Given the description of an element on the screen output the (x, y) to click on. 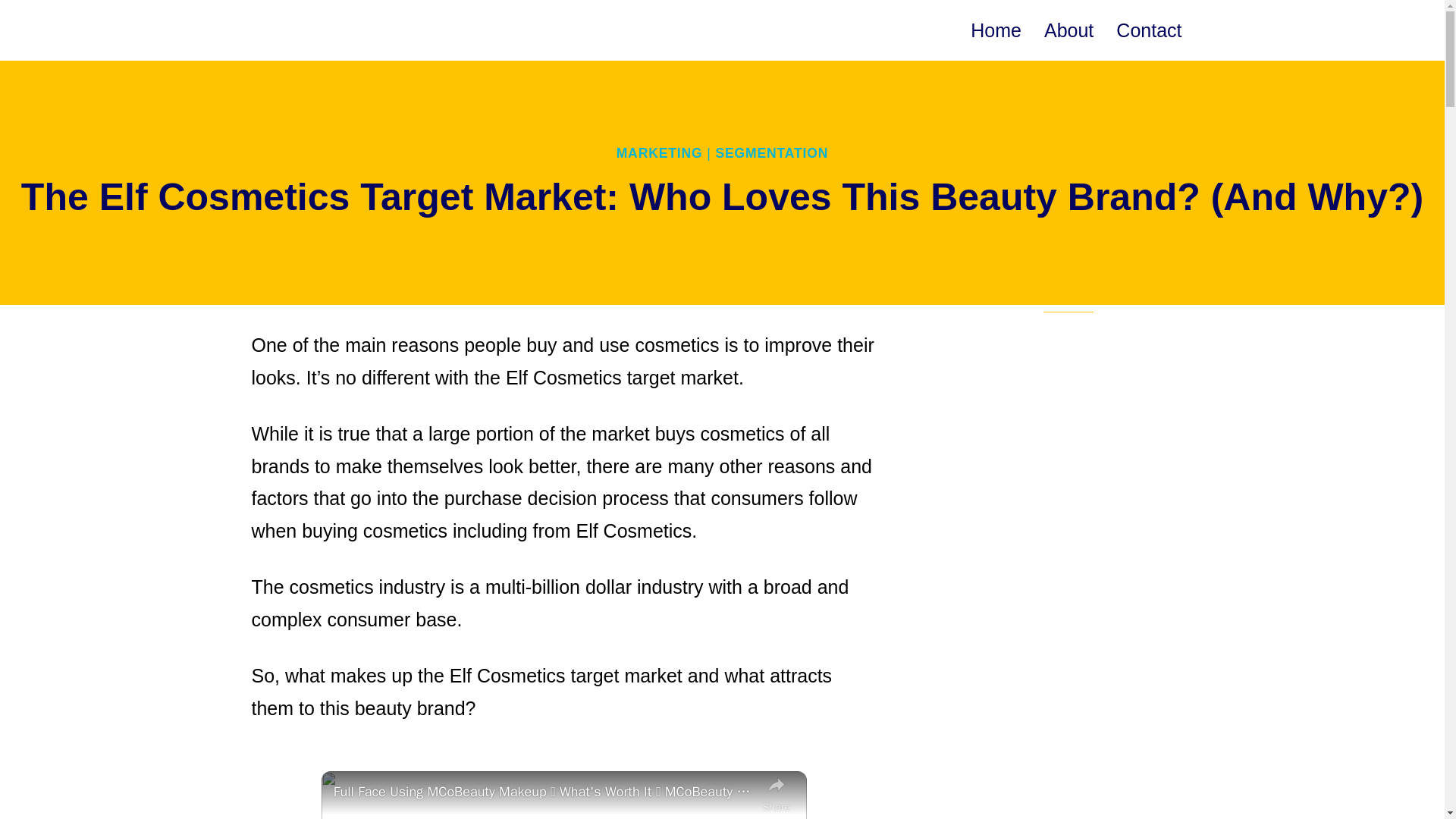
Contact (1148, 30)
SEGMENTATION (771, 152)
Home (995, 30)
MARKETING (659, 152)
About (1068, 30)
